Given the description of an element on the screen output the (x, y) to click on. 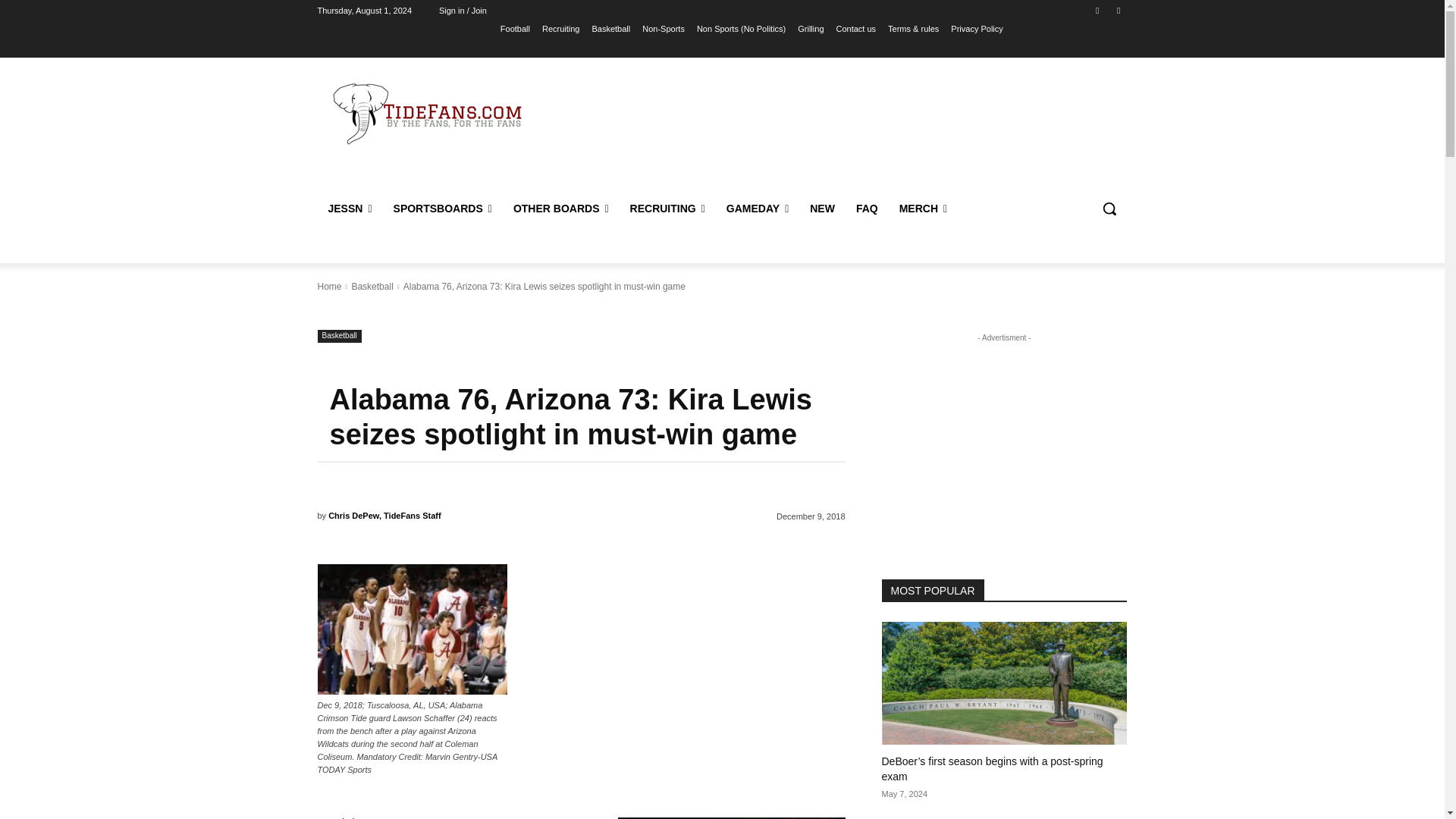
Twitter (1117, 9)
Facebook (1097, 9)
View all posts in Basketball (371, 286)
